Given the description of an element on the screen output the (x, y) to click on. 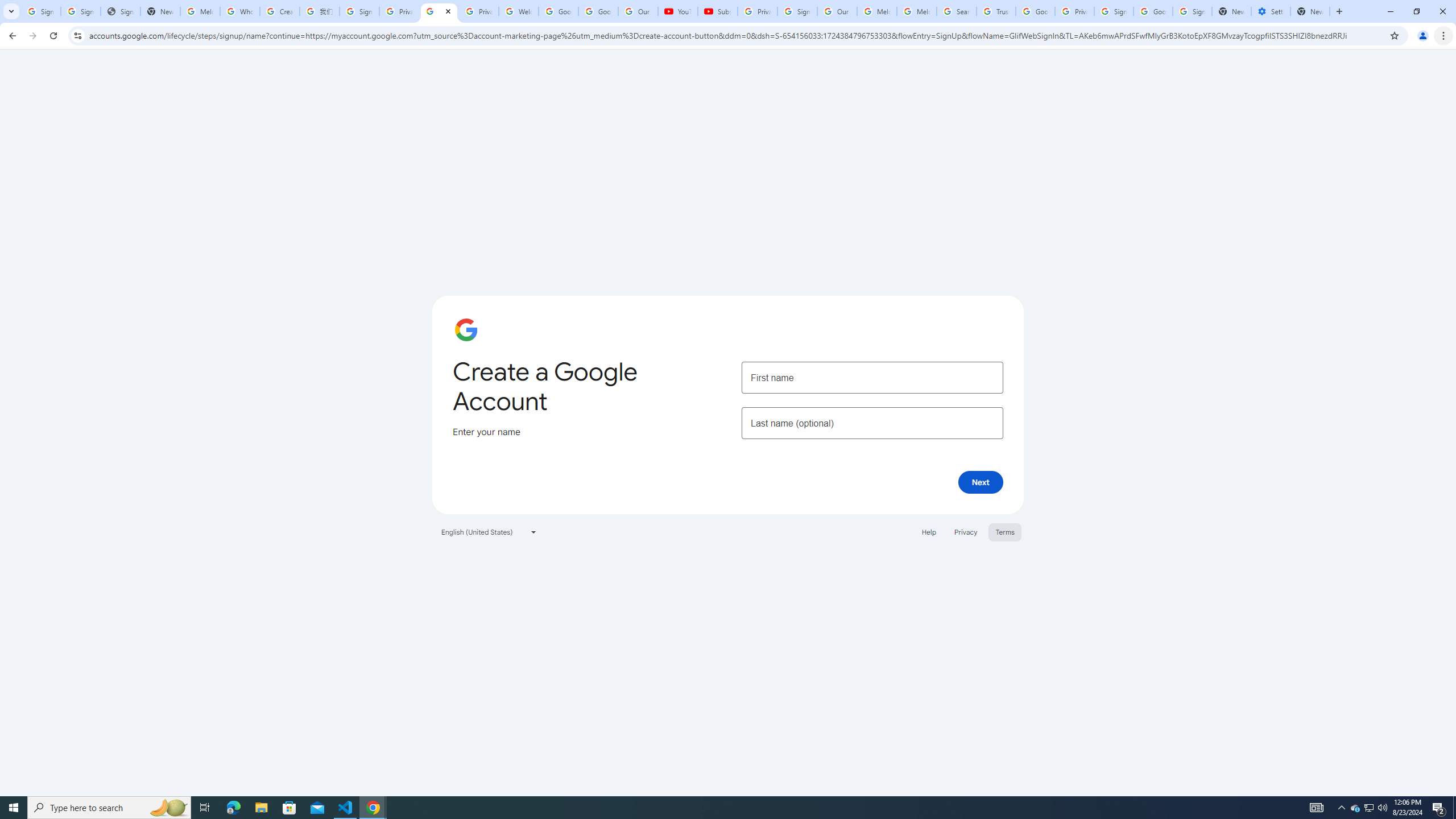
First name (871, 376)
Sign in - Google Accounts (796, 11)
Sign in - Google Accounts (1113, 11)
Trusted Information and Content - Google Safety Center (995, 11)
Sign in - Google Accounts (40, 11)
Sign in - Google Accounts (359, 11)
